Given the description of an element on the screen output the (x, y) to click on. 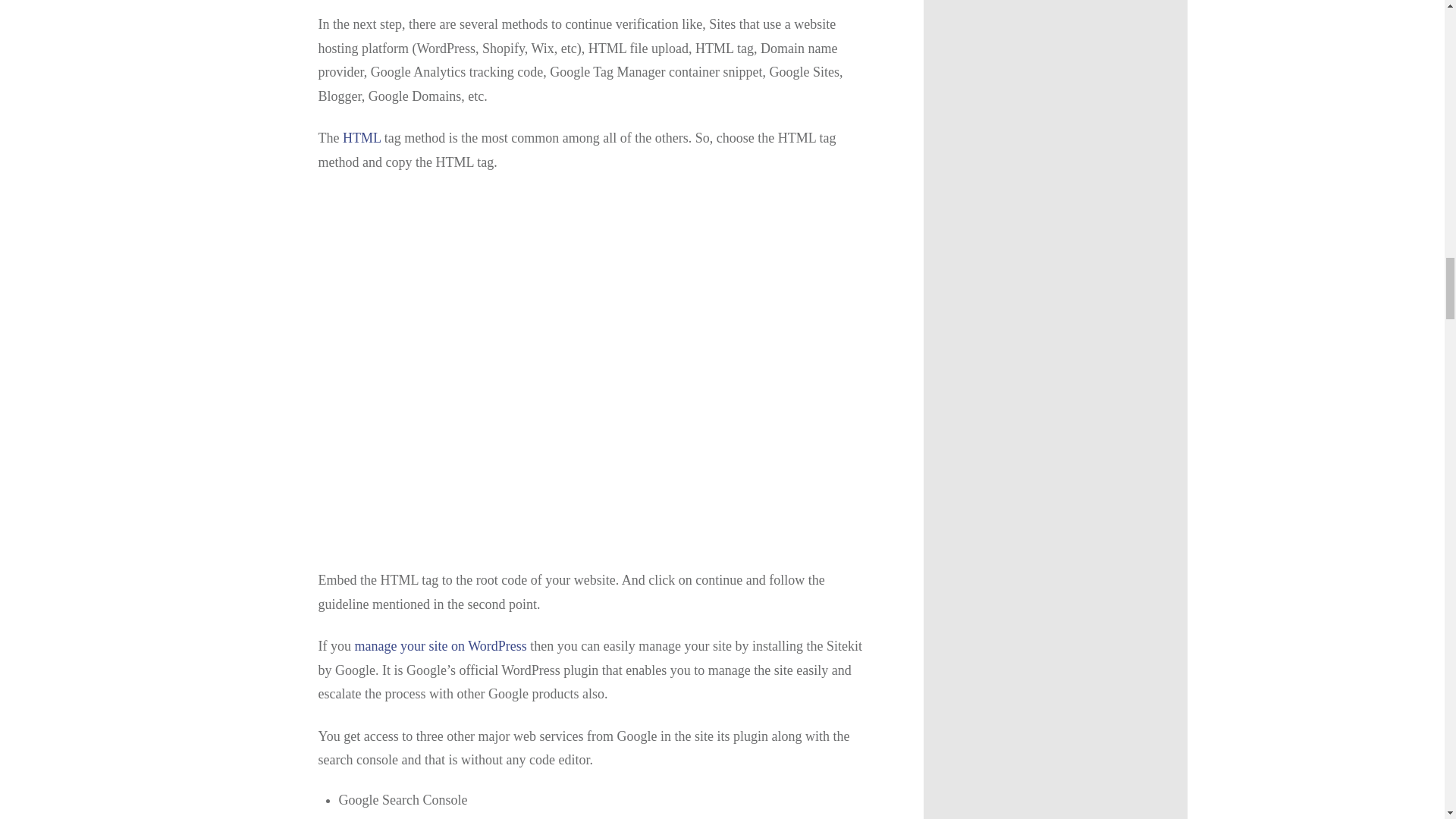
HTML (361, 137)
manage your site on WordPress (441, 645)
